Given the description of an element on the screen output the (x, y) to click on. 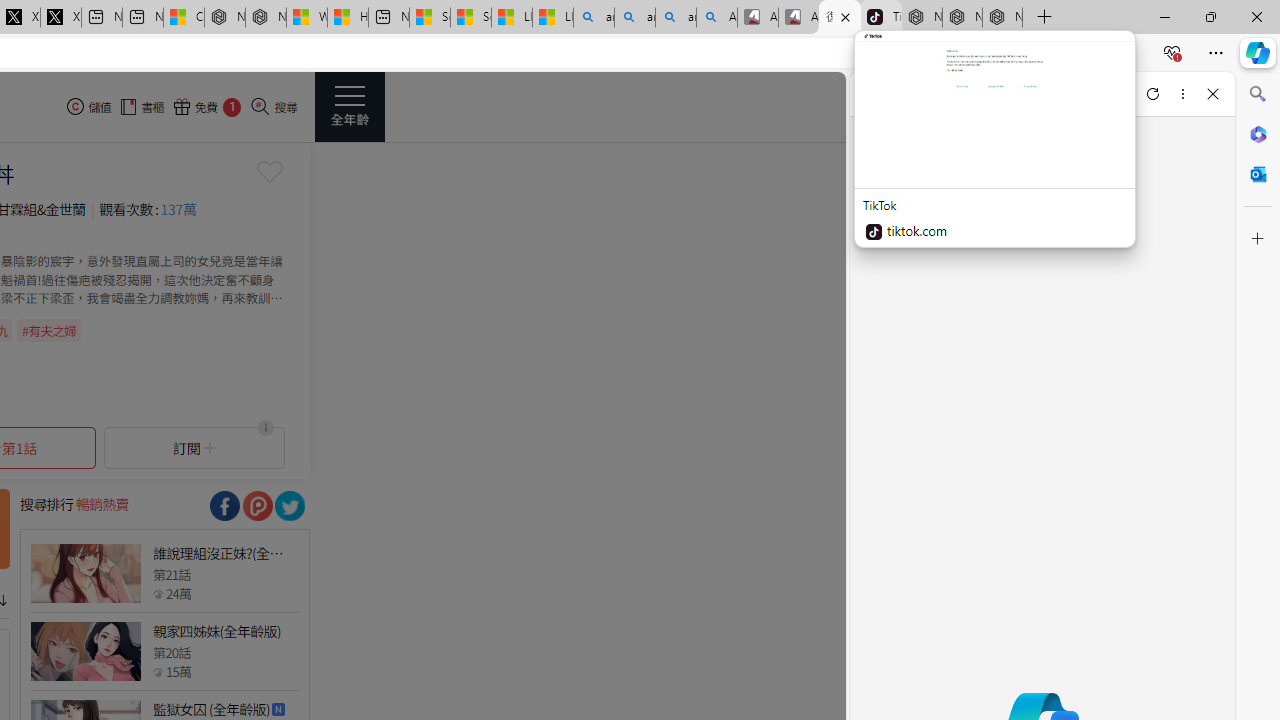
Open link in new tab (1122, 93)
Outlook (1258, 174)
Nordace Siena Pro 15 Backpack (962, 17)
Class: socialShare (289, 506)
Nordace - Siena Pro 15 Essential Set (1002, 17)
Chat (884, 93)
